Given the description of an element on the screen output the (x, y) to click on. 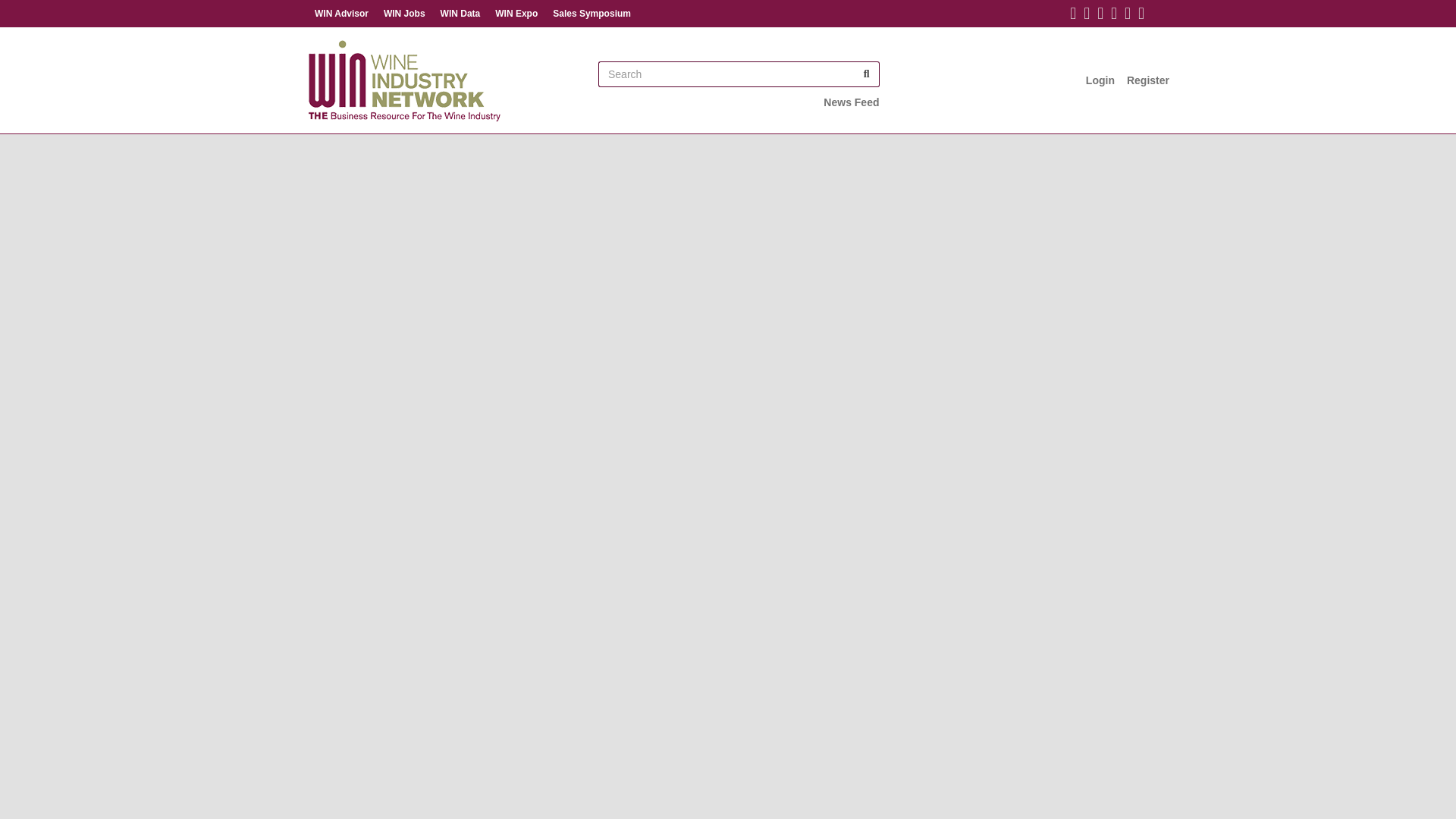
Sales Symposium (591, 13)
WIN Expo (515, 13)
WIN Jobs (403, 13)
Register (1148, 80)
WIN Advisor (341, 13)
WIN Data (459, 13)
News Feed (851, 102)
